Given the description of an element on the screen output the (x, y) to click on. 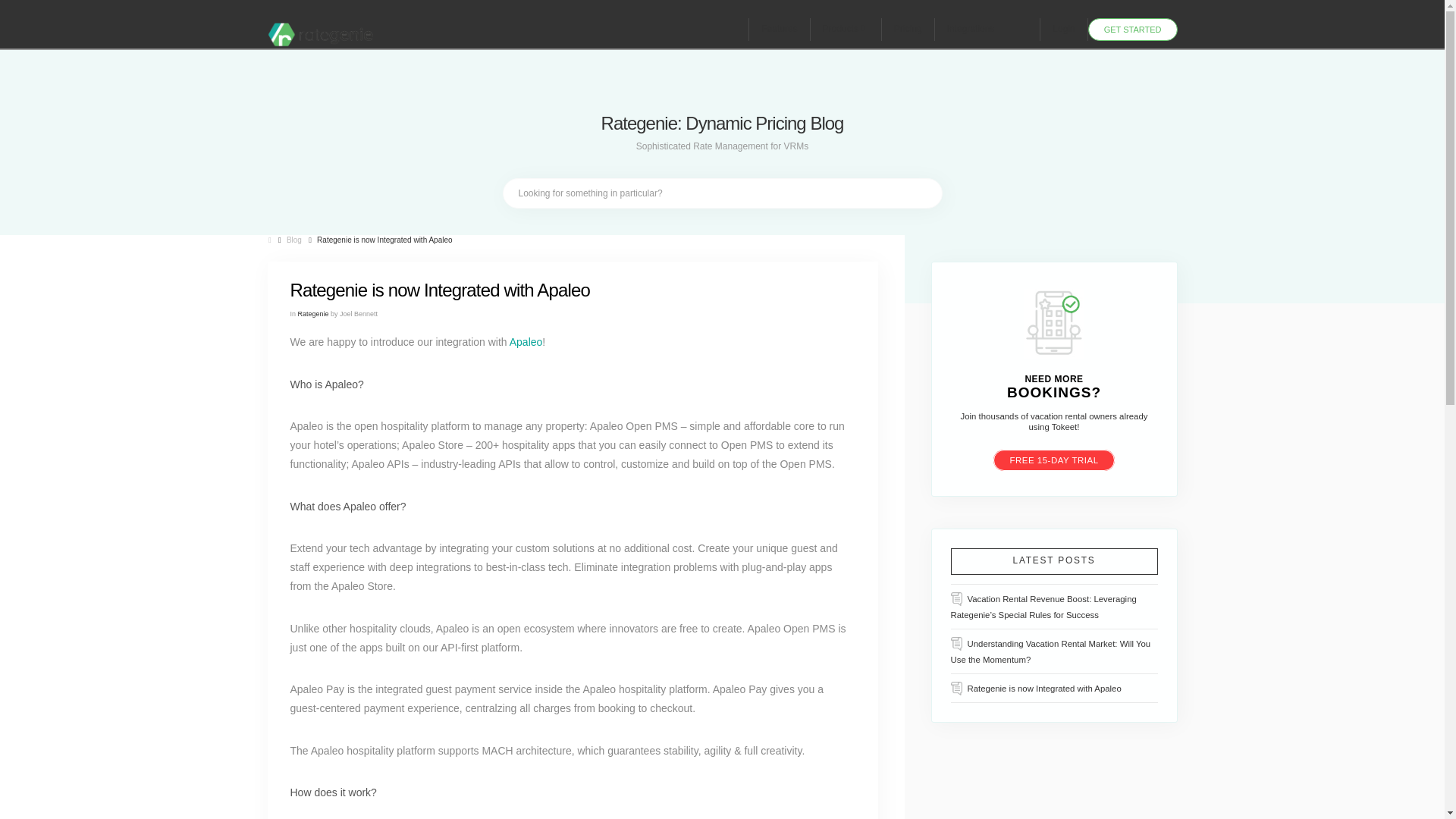
Features (778, 29)
Products (846, 29)
Rategenie is now Integrated with Apaleo (1035, 688)
Pricing (908, 29)
GET STARTED (1132, 29)
You Are Here (384, 240)
Rategenie (313, 313)
Login (1064, 29)
Integrations (987, 29)
FREE 15-DAY TRIAL (1052, 459)
Blog (293, 240)
Rategenie is now Integrated with Apaleo (384, 240)
Apaleo (526, 341)
